Given the description of an element on the screen output the (x, y) to click on. 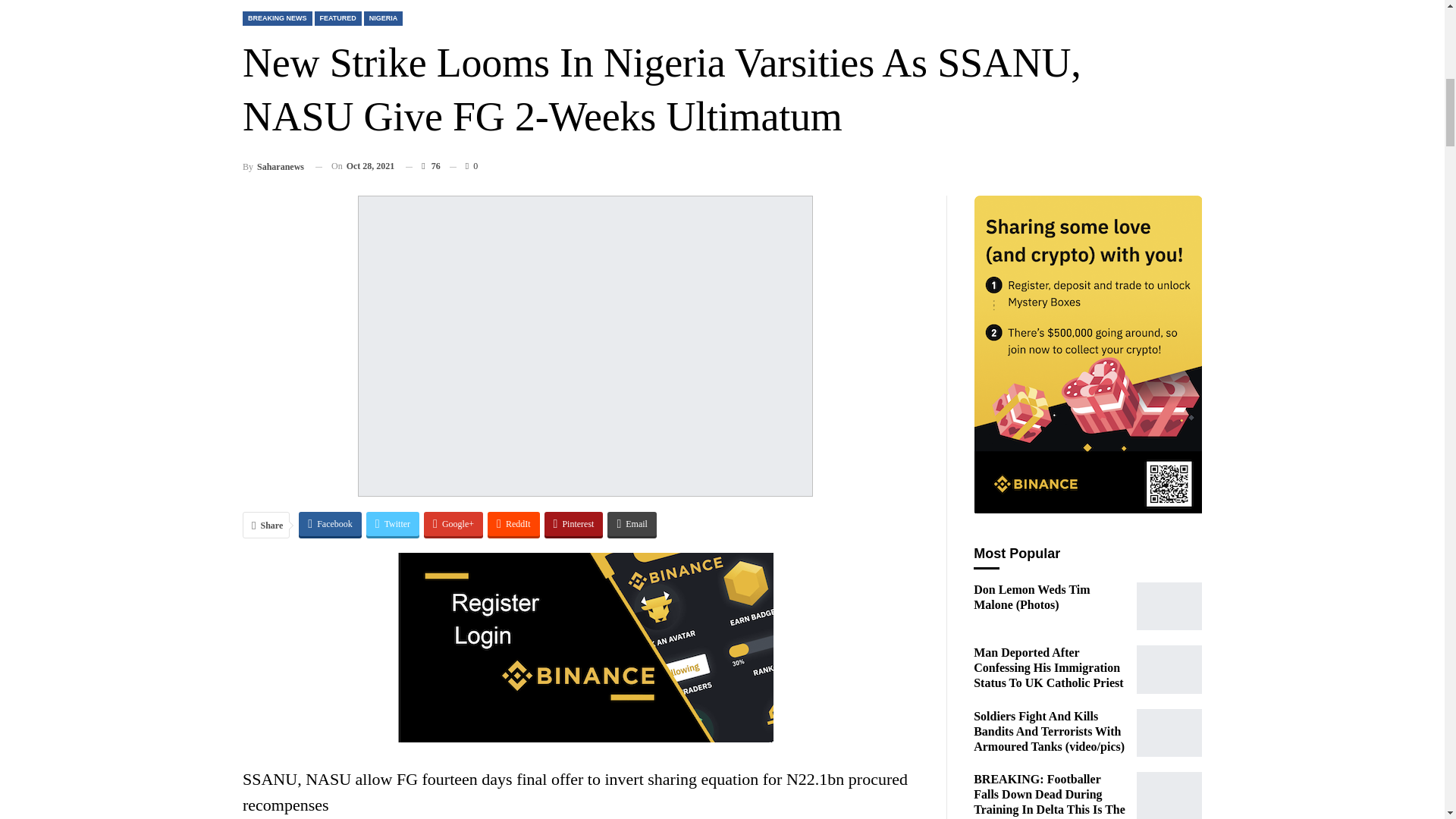
Browse Author Articles (273, 166)
